Given the description of an element on the screen output the (x, y) to click on. 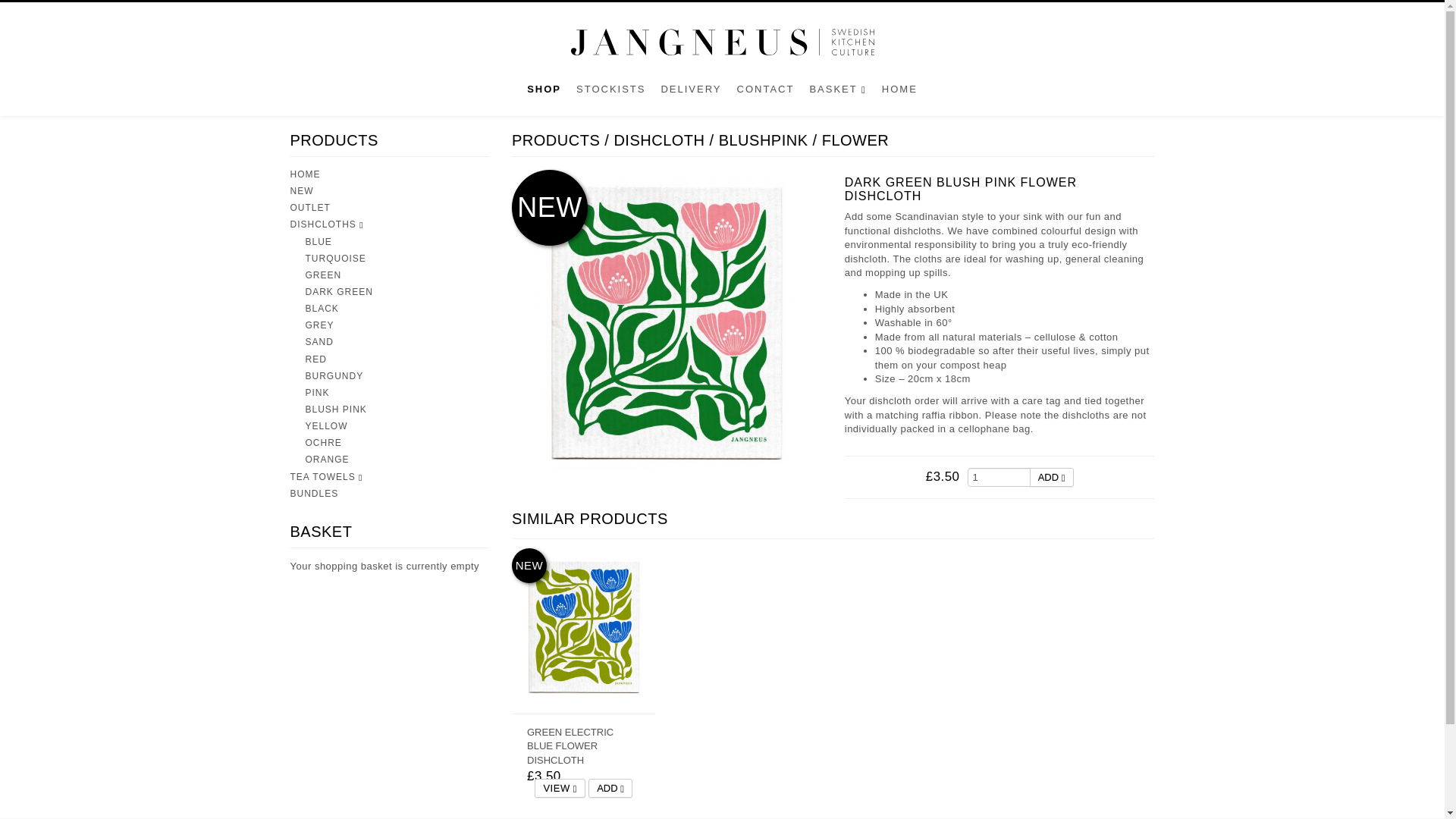
YELLOW (325, 425)
Home (899, 93)
BURGUNDY (333, 376)
DARK GREEN (338, 291)
NEW (301, 190)
SHOP (544, 93)
Shop (544, 93)
TURQUOISE (334, 258)
CONTACT (765, 93)
BASKET (837, 93)
HOME (899, 93)
OCHRE (322, 442)
OUTLET (309, 207)
BLACK (320, 308)
GREY (318, 325)
